Given the description of an element on the screen output the (x, y) to click on. 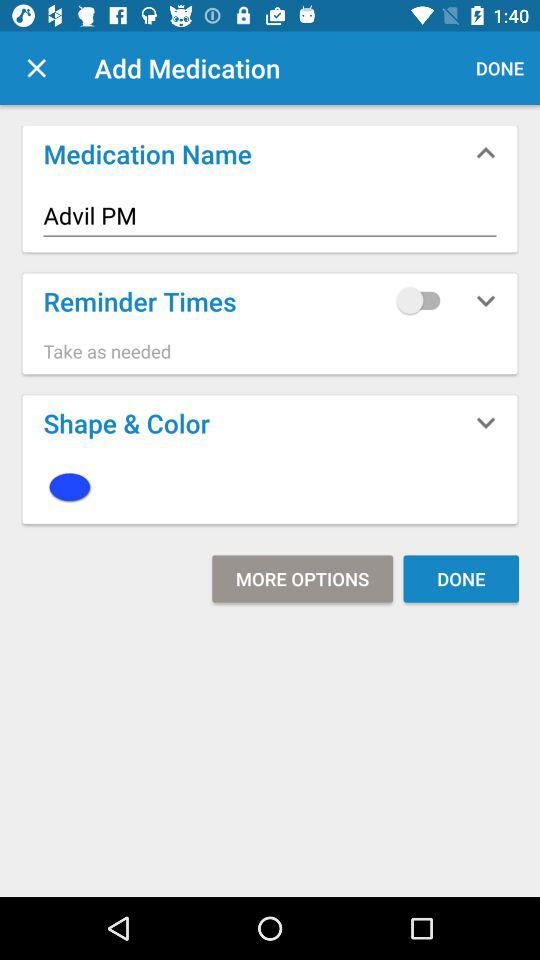
close window (36, 68)
